Given the description of an element on the screen output the (x, y) to click on. 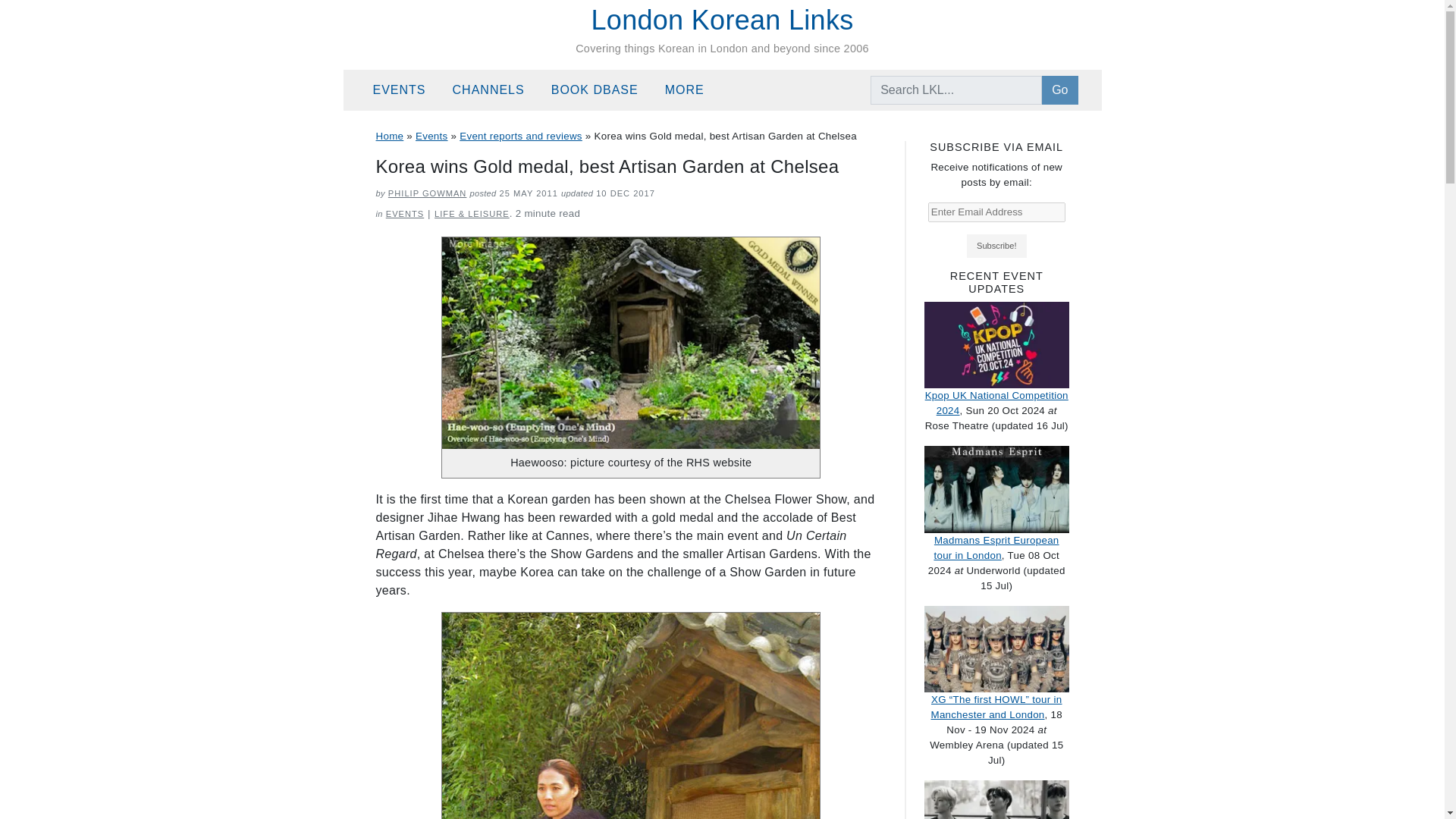
BOOK DBASE (601, 90)
London Korean Links (722, 20)
EVENTS (406, 90)
25 MAY 2011 (528, 193)
Go (1059, 90)
Events (406, 90)
MORE (692, 90)
10 DEC 2017 (625, 193)
Book DBase (601, 90)
PHILIP GOWMAN (427, 193)
Channels (495, 90)
EVENTS (404, 213)
Events (431, 135)
CHANNELS (495, 90)
Event reports and reviews (521, 135)
